Given the description of an element on the screen output the (x, y) to click on. 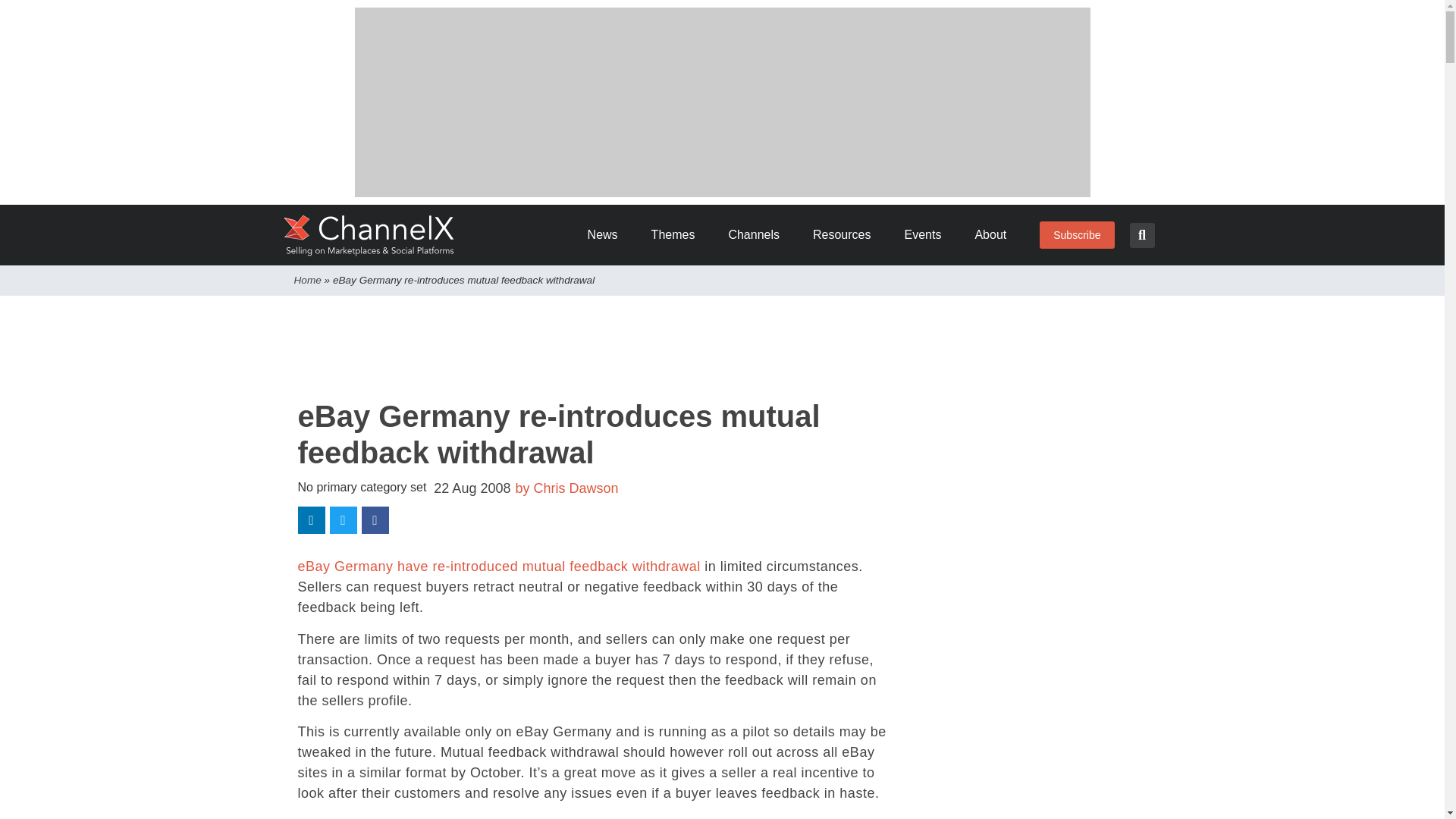
Resources (846, 234)
News (607, 234)
Channels (758, 234)
Themes (678, 234)
ChannelX Home Page (369, 234)
